Given the description of an element on the screen output the (x, y) to click on. 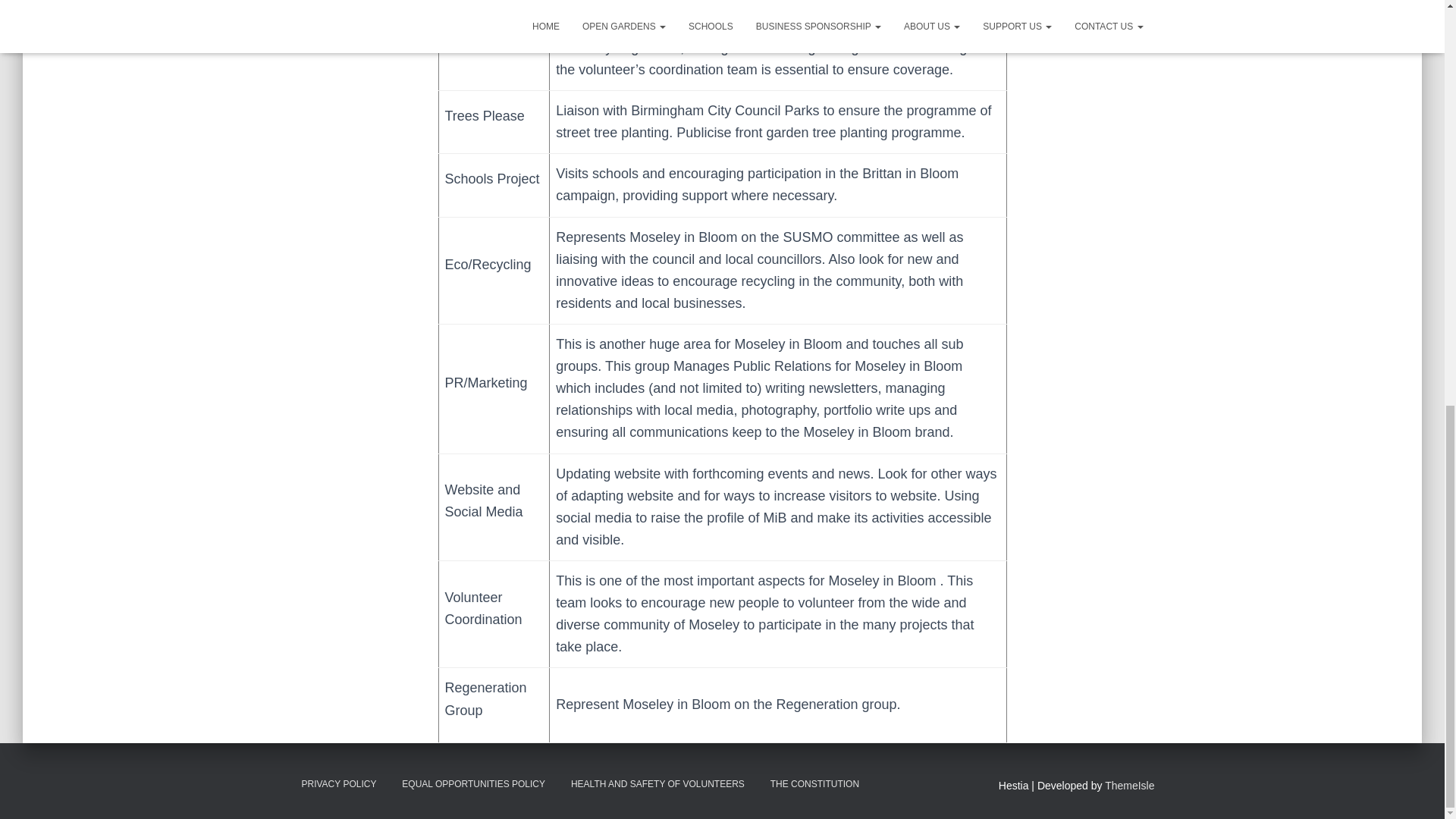
THE CONSTITUTION (814, 784)
HEALTH AND SAFETY OF VOLUNTEERS (657, 784)
EQUAL OPPORTUNITIES POLICY (473, 784)
ThemeIsle (1129, 785)
PRIVACY POLICY (338, 784)
